Given the description of an element on the screen output the (x, y) to click on. 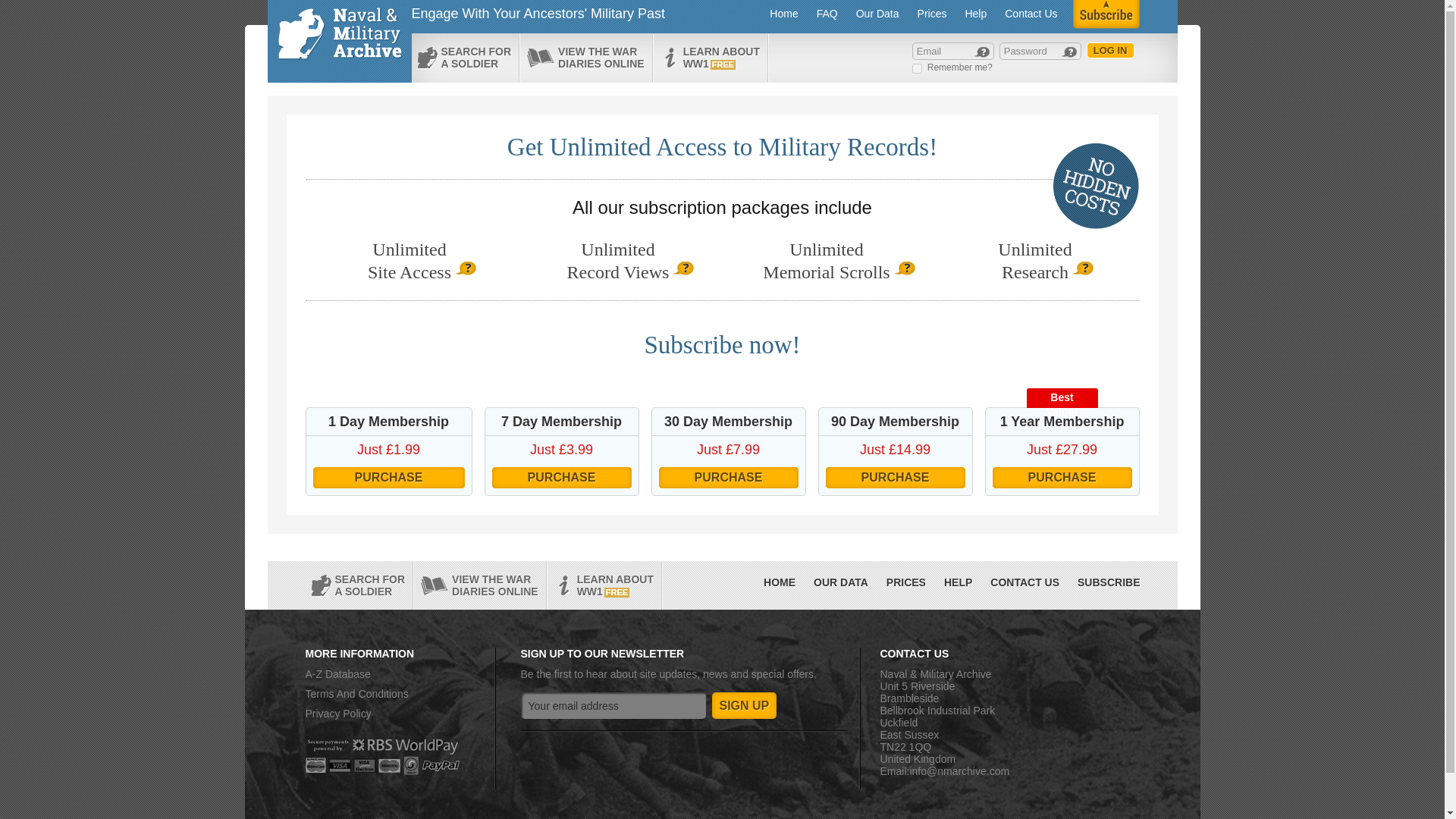
PRICES (905, 582)
Terms And Conditions (355, 693)
1 (916, 68)
OUR DATA (841, 582)
Help (975, 13)
A-Z Database (336, 674)
Password (604, 585)
Contact Us (1039, 50)
CONTACT US (1030, 13)
HELP (1024, 582)
Email (957, 582)
Privacy Policy (953, 50)
Sign up (337, 713)
Log in (743, 705)
